Given the description of an element on the screen output the (x, y) to click on. 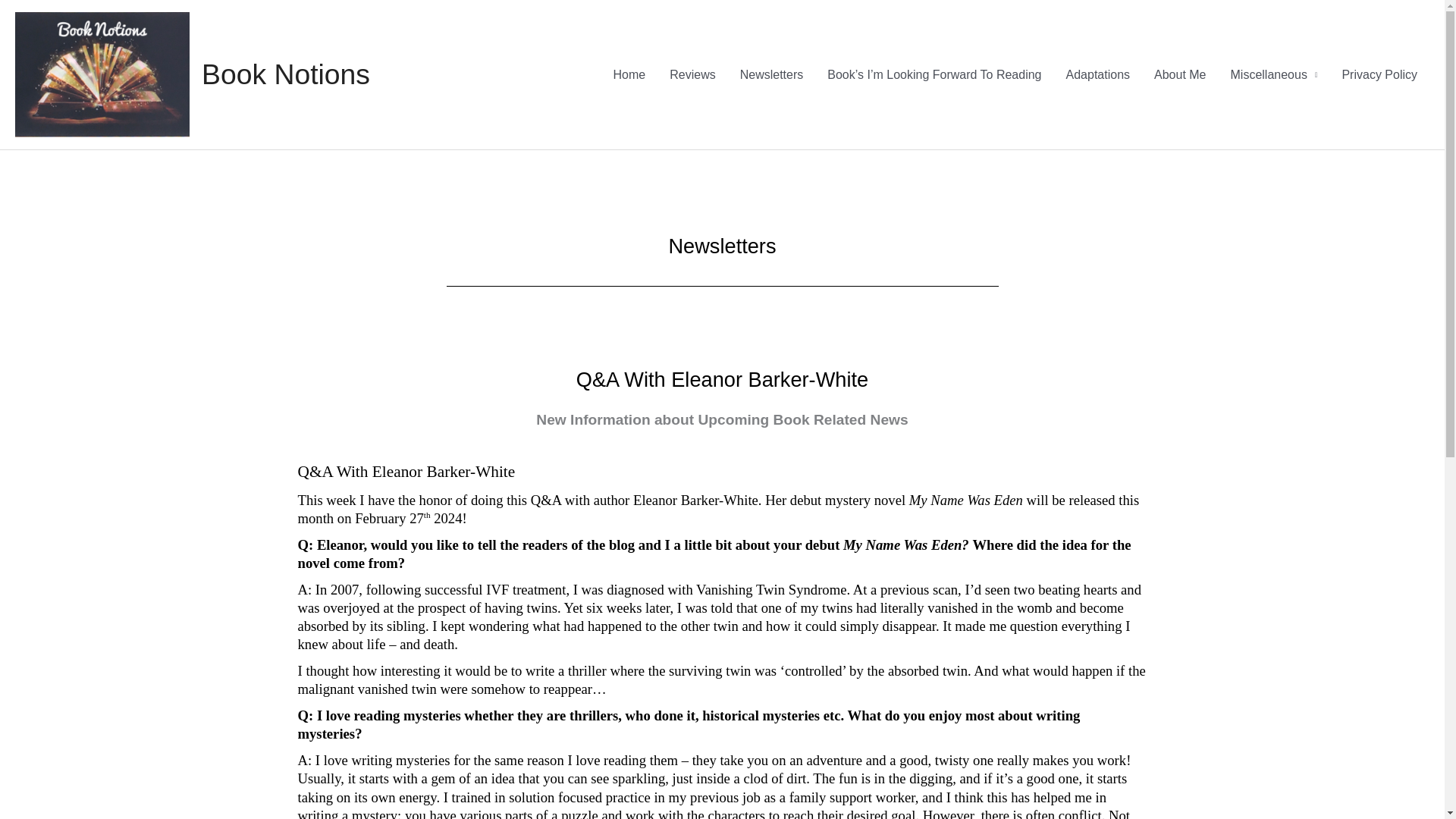
Book Notions (285, 74)
Newsletters (771, 73)
Home (629, 73)
Privacy Policy (1379, 73)
About Me (1179, 73)
Adaptations (1098, 73)
Miscellaneous (1274, 73)
Reviews (692, 73)
